Given the description of an element on the screen output the (x, y) to click on. 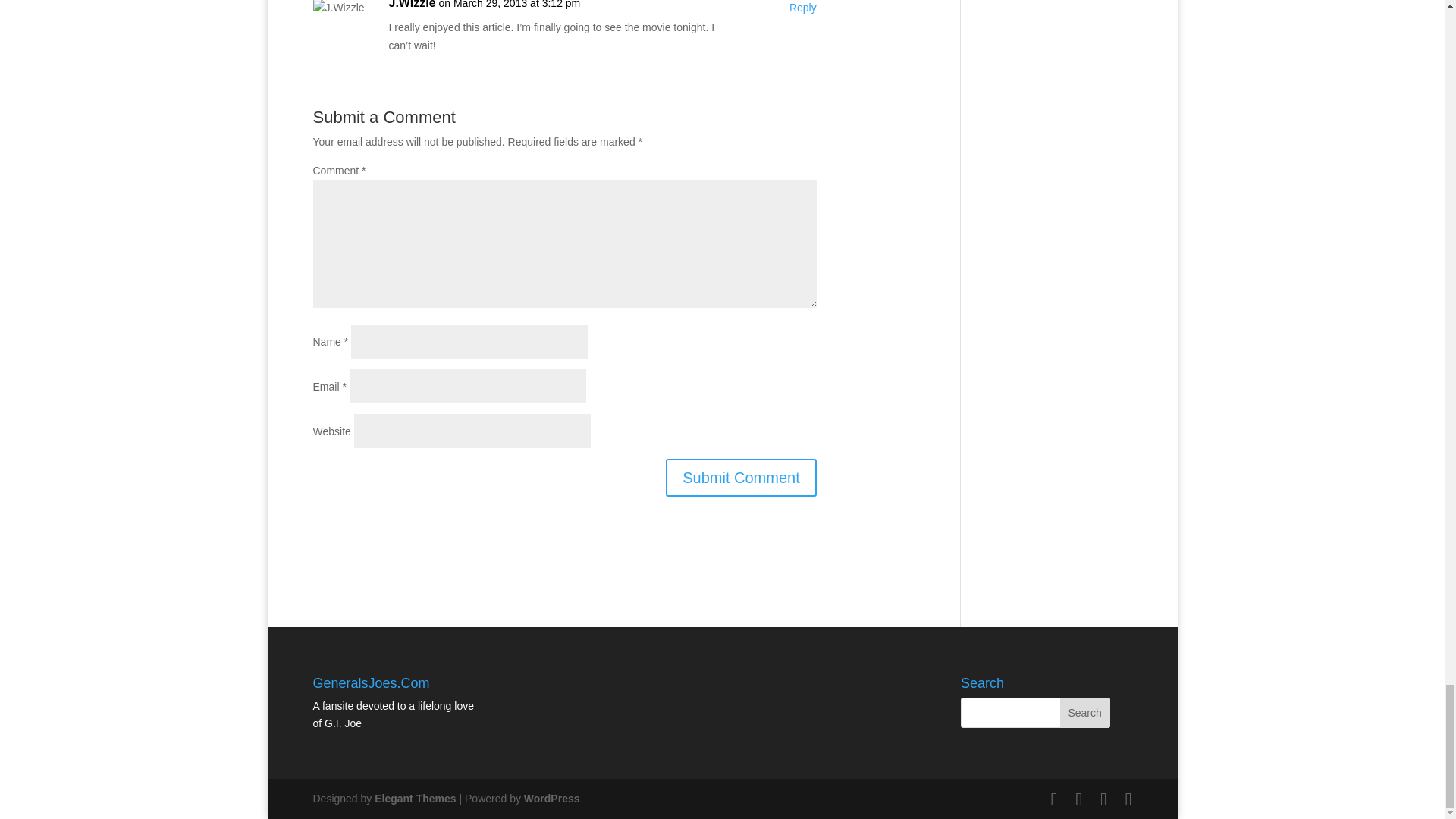
Search (1084, 712)
Submit Comment (740, 477)
Premium WordPress Themes (414, 798)
